Given the description of an element on the screen output the (x, y) to click on. 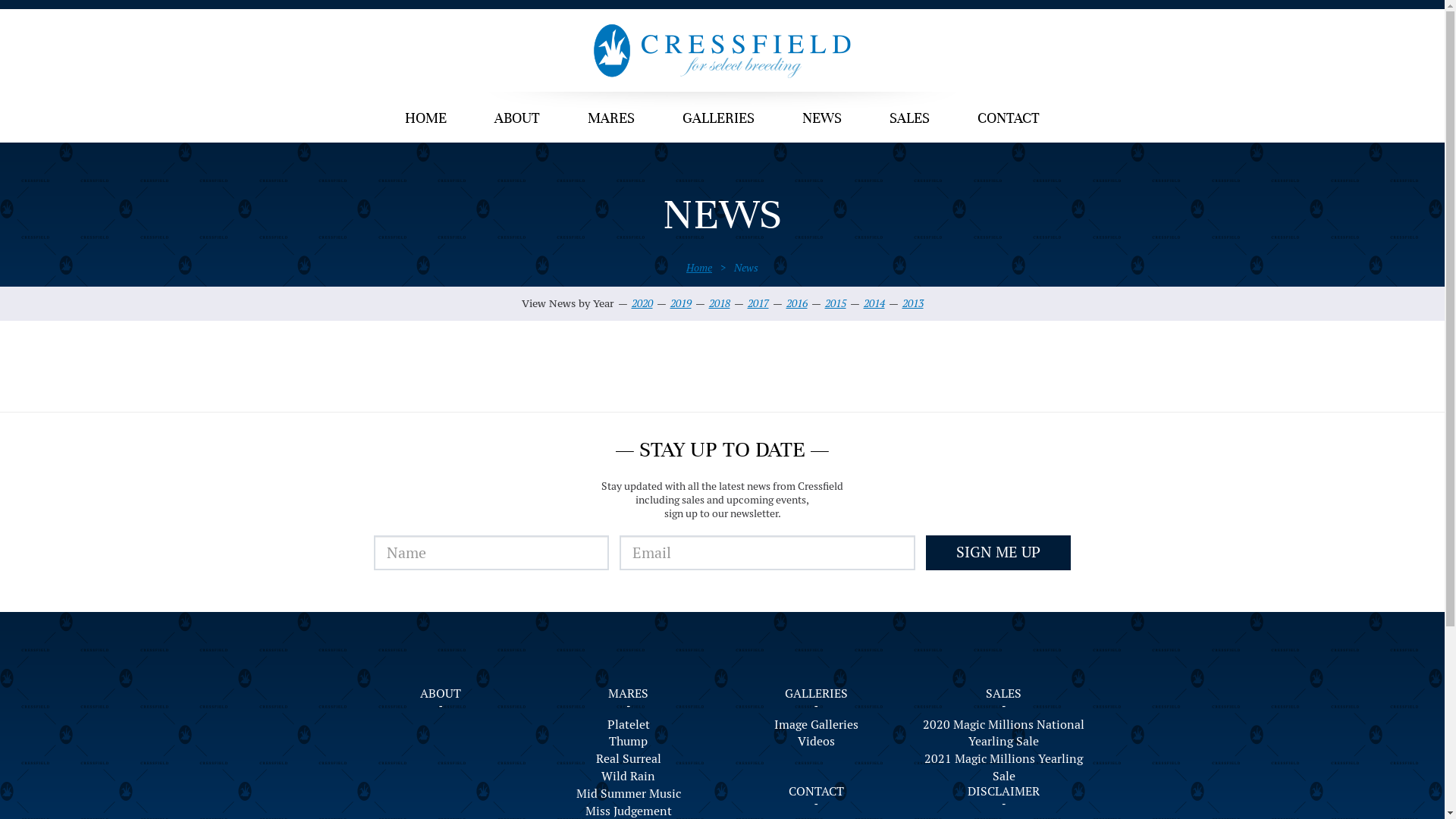
MARES Element type: text (628, 693)
sign me up Element type: text (997, 552)
CONTACT Element type: text (1008, 120)
Image Galleries Element type: text (816, 725)
2014 Element type: text (873, 303)
2019 Element type: text (680, 303)
MARES Element type: text (610, 120)
2013 Element type: text (912, 303)
SALES Element type: text (1003, 693)
ABOUT Element type: text (516, 120)
GALLERIES Element type: text (718, 120)
GALLERIES Element type: text (815, 693)
2017 Element type: text (757, 303)
Videos Element type: text (816, 741)
2018 Element type: text (718, 303)
2020 Element type: text (641, 303)
Real Surreal Element type: text (628, 759)
News Element type: text (746, 267)
NEWS Element type: text (821, 120)
Home Element type: text (699, 267)
SALES Element type: text (909, 120)
CONTACT Element type: text (816, 791)
DISCLAIMER Element type: text (1003, 791)
ABOUT Element type: text (440, 693)
2015 Element type: text (835, 303)
2021 Magic Millions Yearling Sale Element type: text (1003, 767)
HOME Element type: text (425, 120)
Mid Summer Music Element type: text (628, 794)
2016 Element type: text (795, 303)
Wild Rain Element type: text (628, 776)
2020 Magic Millions National Yearling Sale Element type: text (1003, 733)
Thump Element type: text (628, 741)
Platelet Element type: text (628, 725)
